Given the description of an element on the screen output the (x, y) to click on. 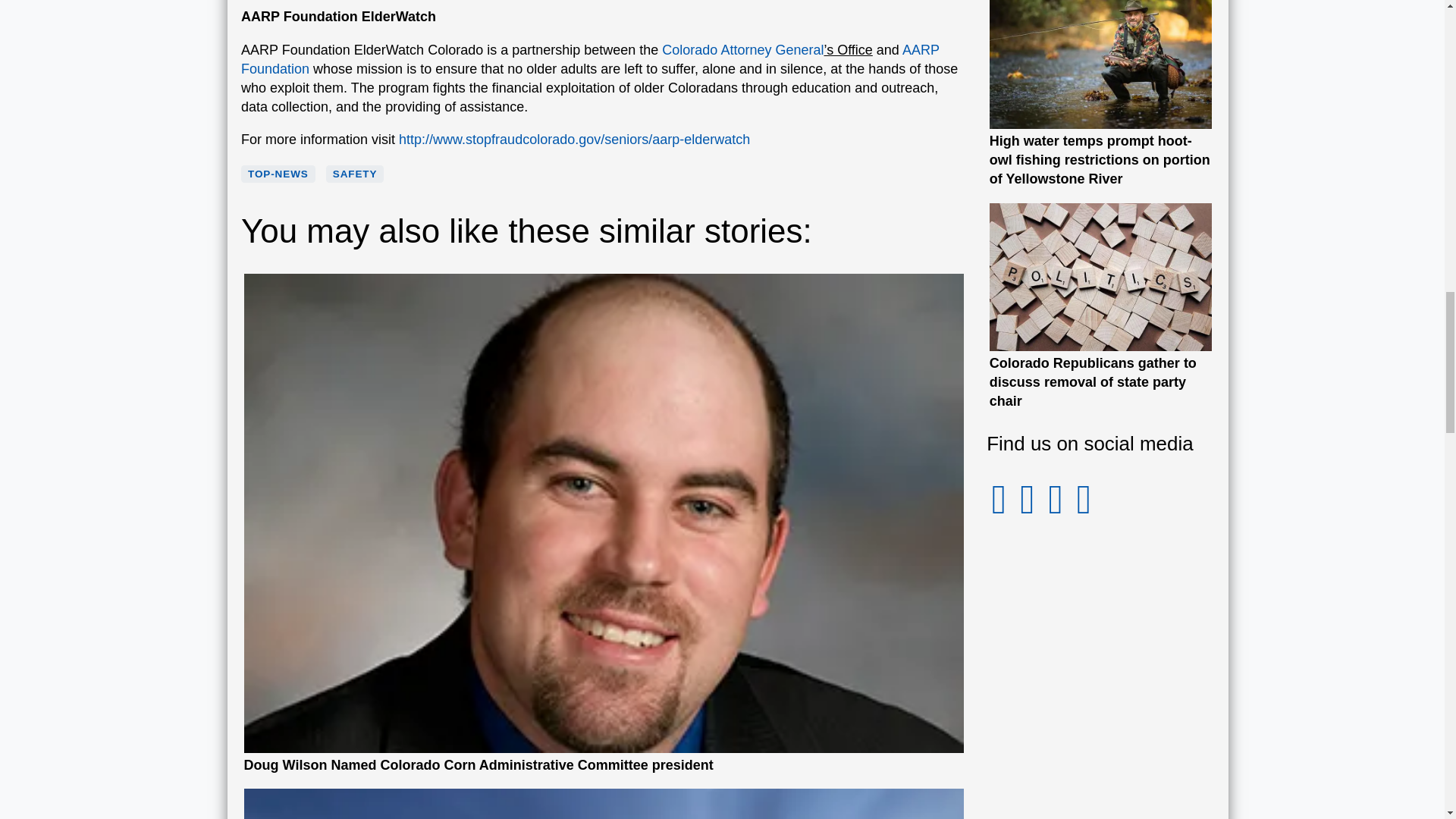
AARP Foundation (590, 59)
SAFETY (355, 173)
Colorado Attorney General (743, 49)
TOP-NEWS (277, 173)
